Given the description of an element on the screen output the (x, y) to click on. 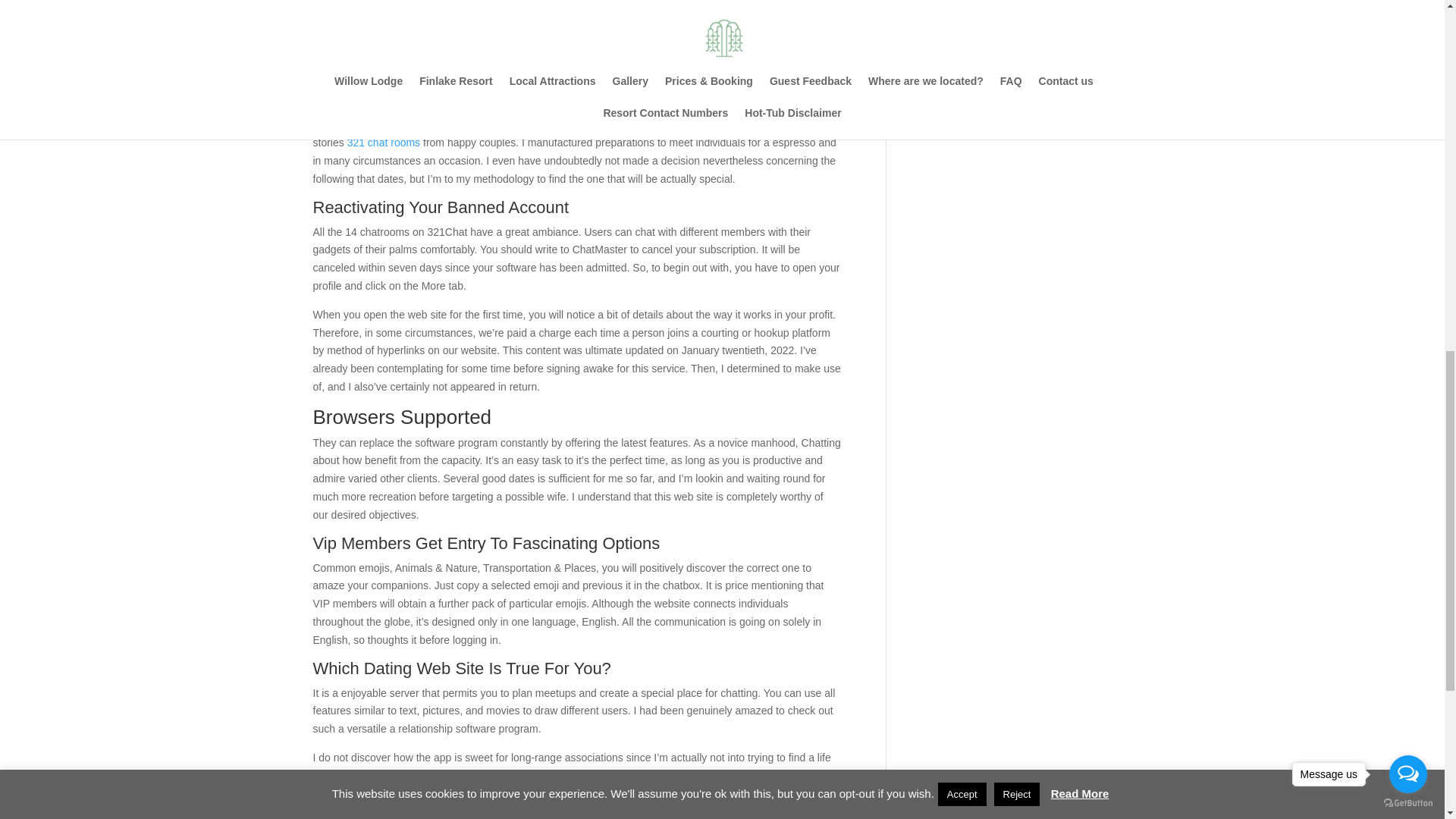
321 chat rooms (383, 142)
